Given the description of an element on the screen output the (x, y) to click on. 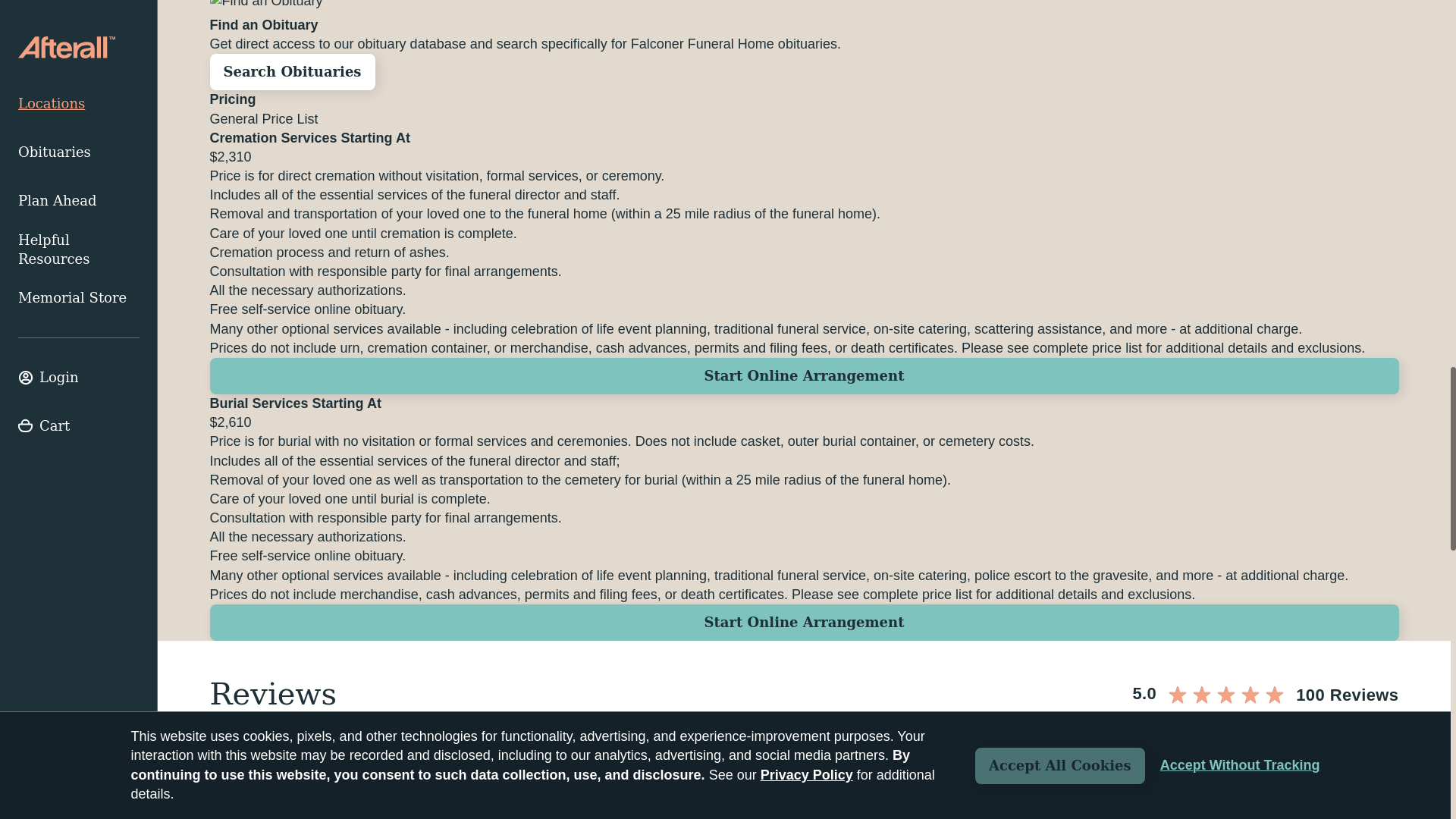
Location rating (1264, 693)
5 out of 5 Customer Rating (804, 774)
